Given the description of an element on the screen output the (x, y) to click on. 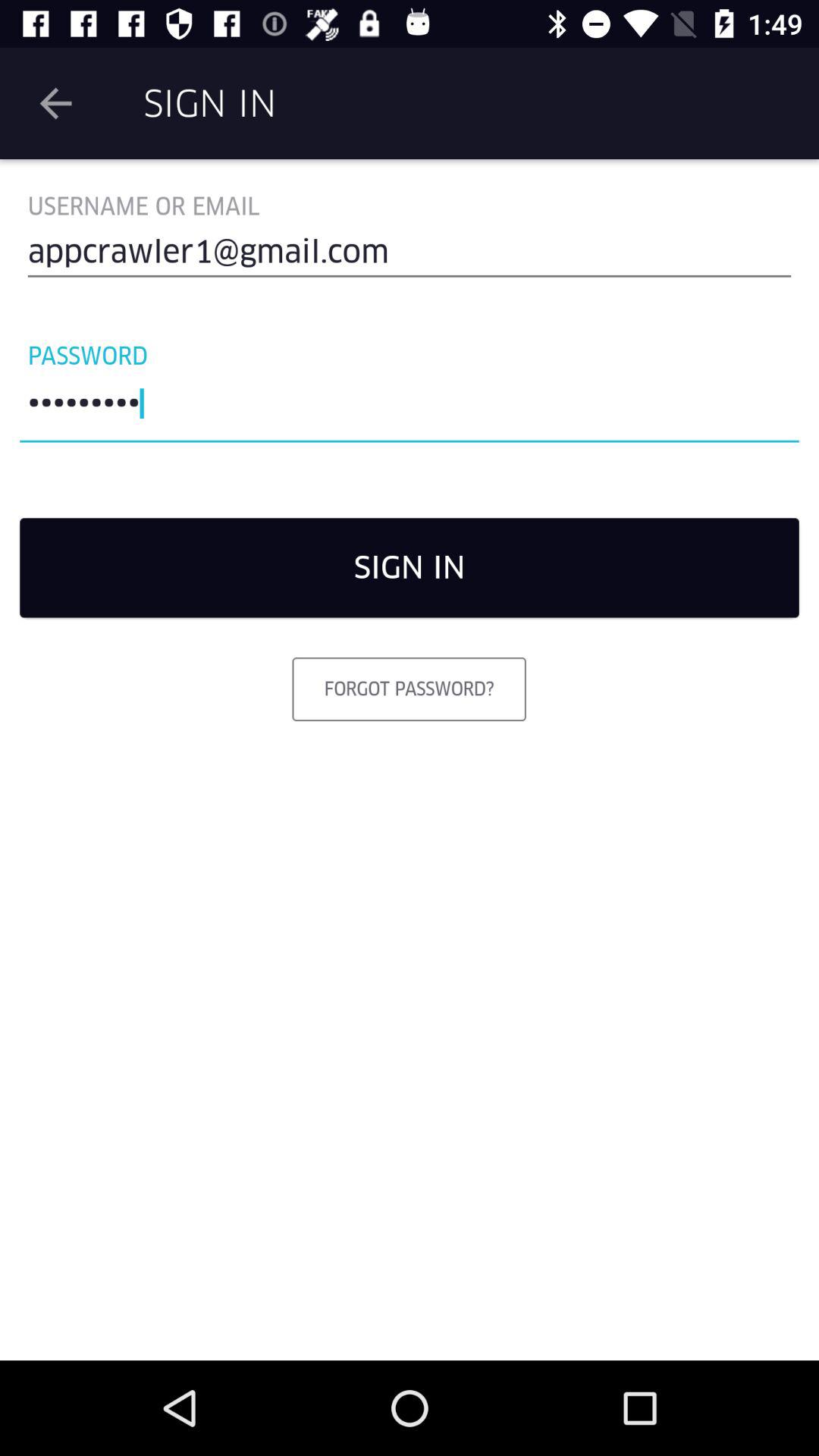
open forgot password? icon (409, 689)
